Given the description of an element on the screen output the (x, y) to click on. 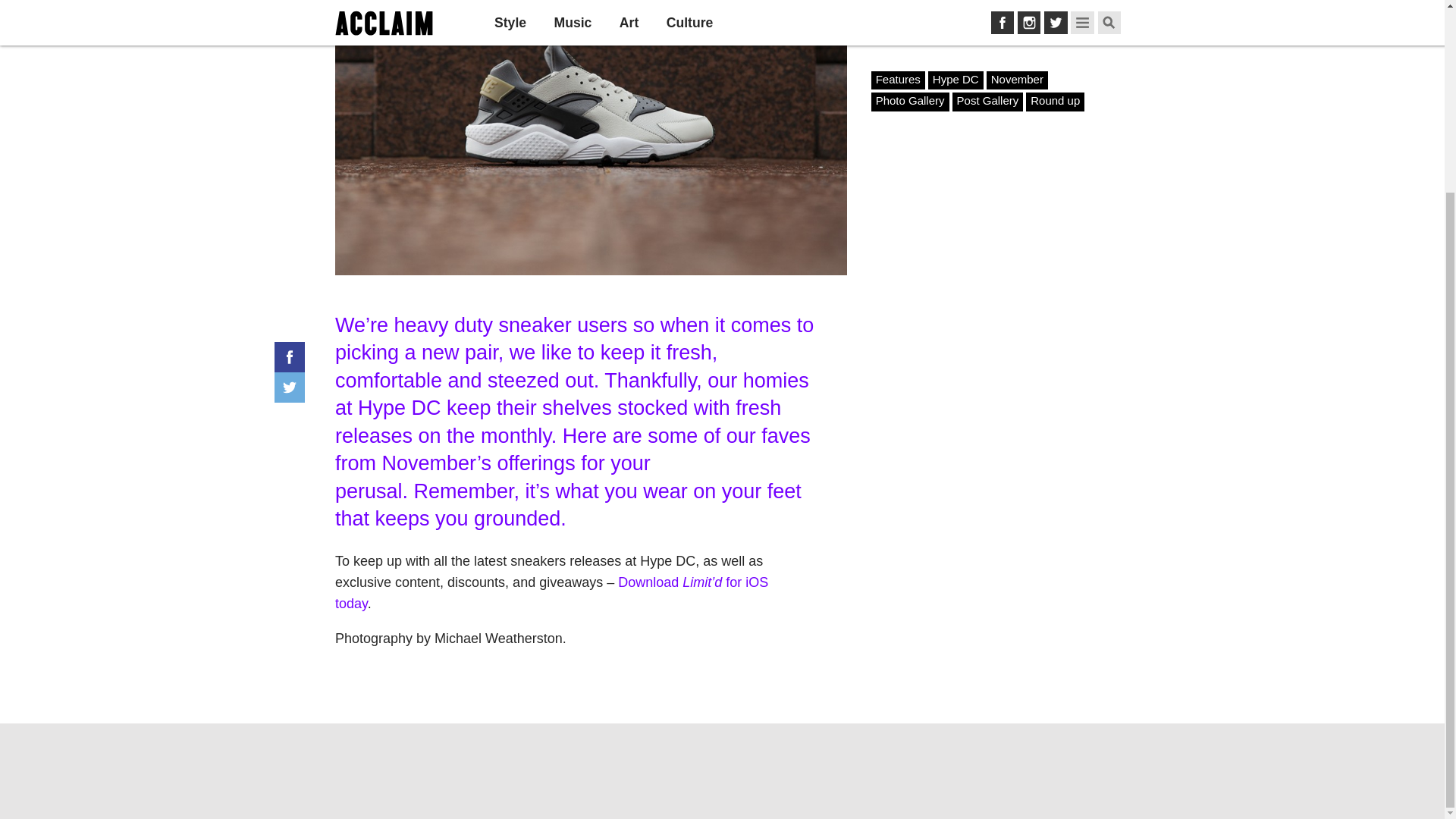
Join (1078, 18)
